Given the description of an element on the screen output the (x, y) to click on. 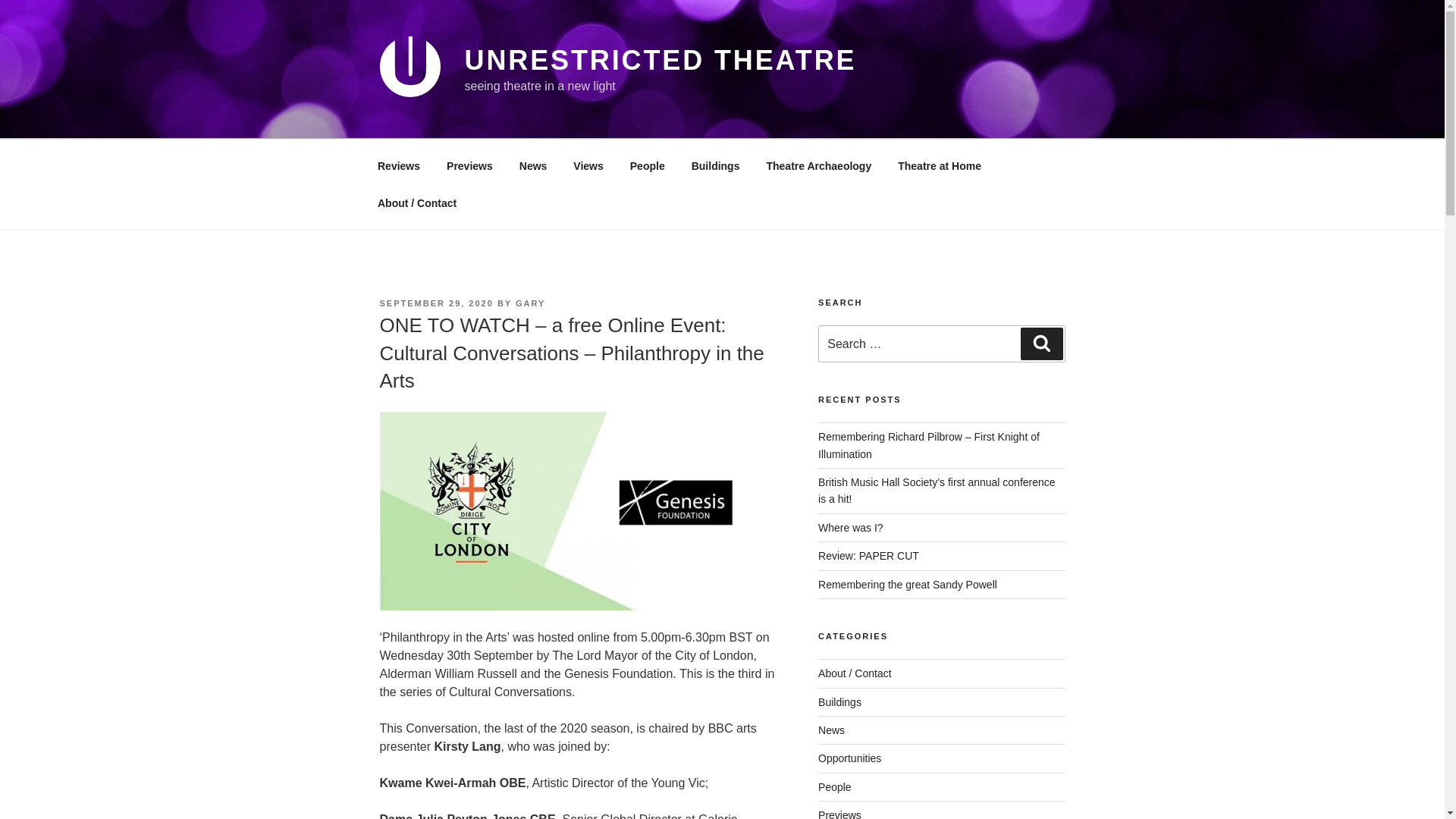
Review: PAPER CUT (868, 555)
News (831, 729)
Where was I? (850, 527)
Previews (469, 165)
People (834, 787)
Views (587, 165)
People (646, 165)
Buildings (715, 165)
Opportunities (849, 758)
GARY (529, 302)
Theatre at Home (939, 165)
Remembering the great Sandy Powell (907, 583)
News (532, 165)
Buildings (839, 702)
Search (1041, 343)
